Given the description of an element on the screen output the (x, y) to click on. 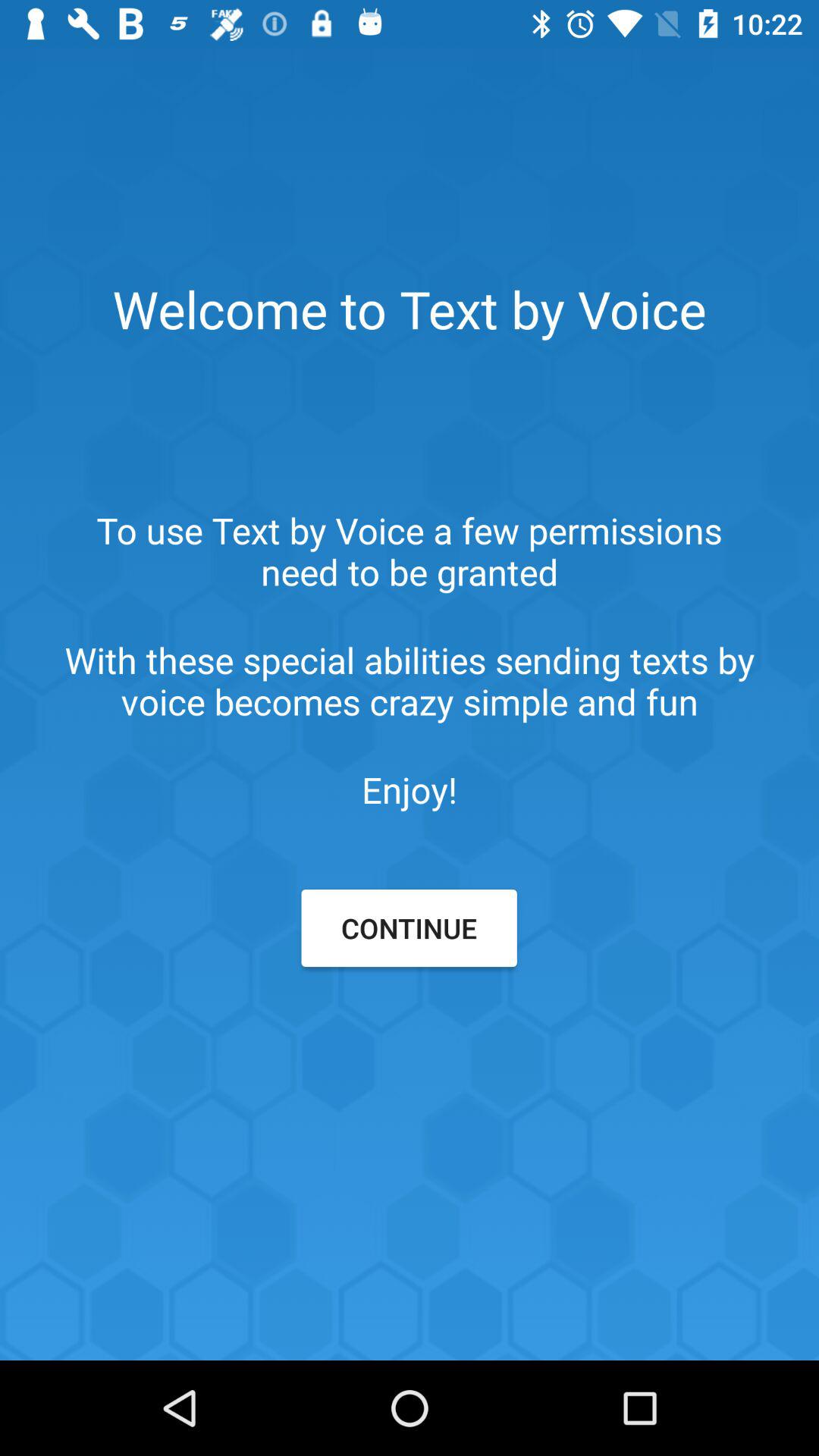
scroll until the continue item (408, 927)
